Given the description of an element on the screen output the (x, y) to click on. 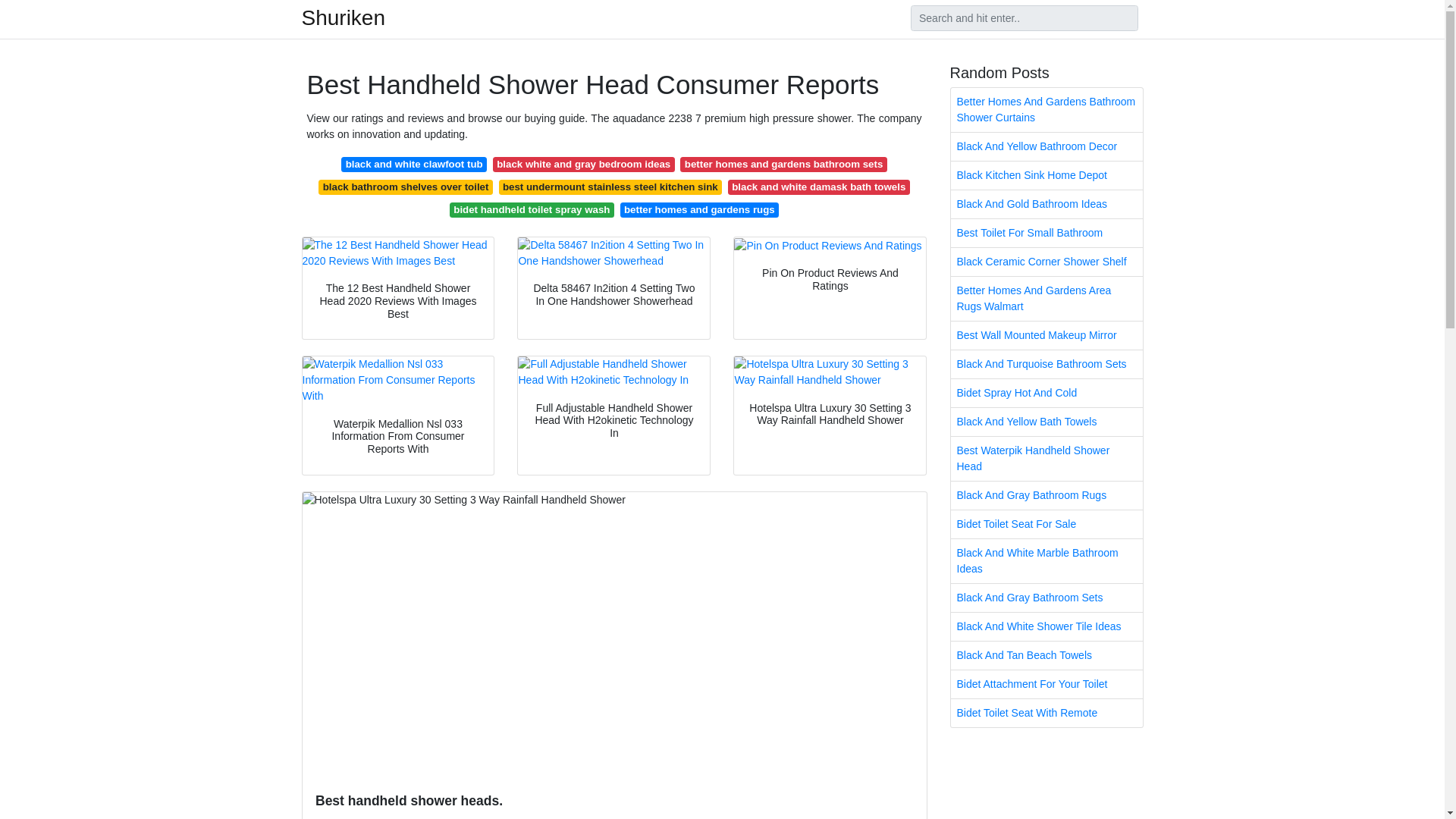
Black Kitchen Sink Home Depot (1046, 175)
Shuriken (343, 18)
Black And Gold Bathroom Ideas (1046, 204)
Best Toilet For Small Bathroom (1046, 233)
Shuriken (343, 18)
Black And Yellow Bathroom Decor (1046, 146)
Black Ceramic Corner Shower Shelf (1046, 262)
Better Homes And Gardens Area Rugs Walmart (1046, 298)
Black And Turquoise Bathroom Sets (1046, 364)
better homes and gardens rugs (699, 209)
black and white clawfoot tub (413, 164)
bidet handheld toilet spray wash (531, 209)
Best Wall Mounted Makeup Mirror (1046, 335)
best undermount stainless steel kitchen sink (610, 186)
black bathroom shelves over toilet (405, 186)
